Given the description of an element on the screen output the (x, y) to click on. 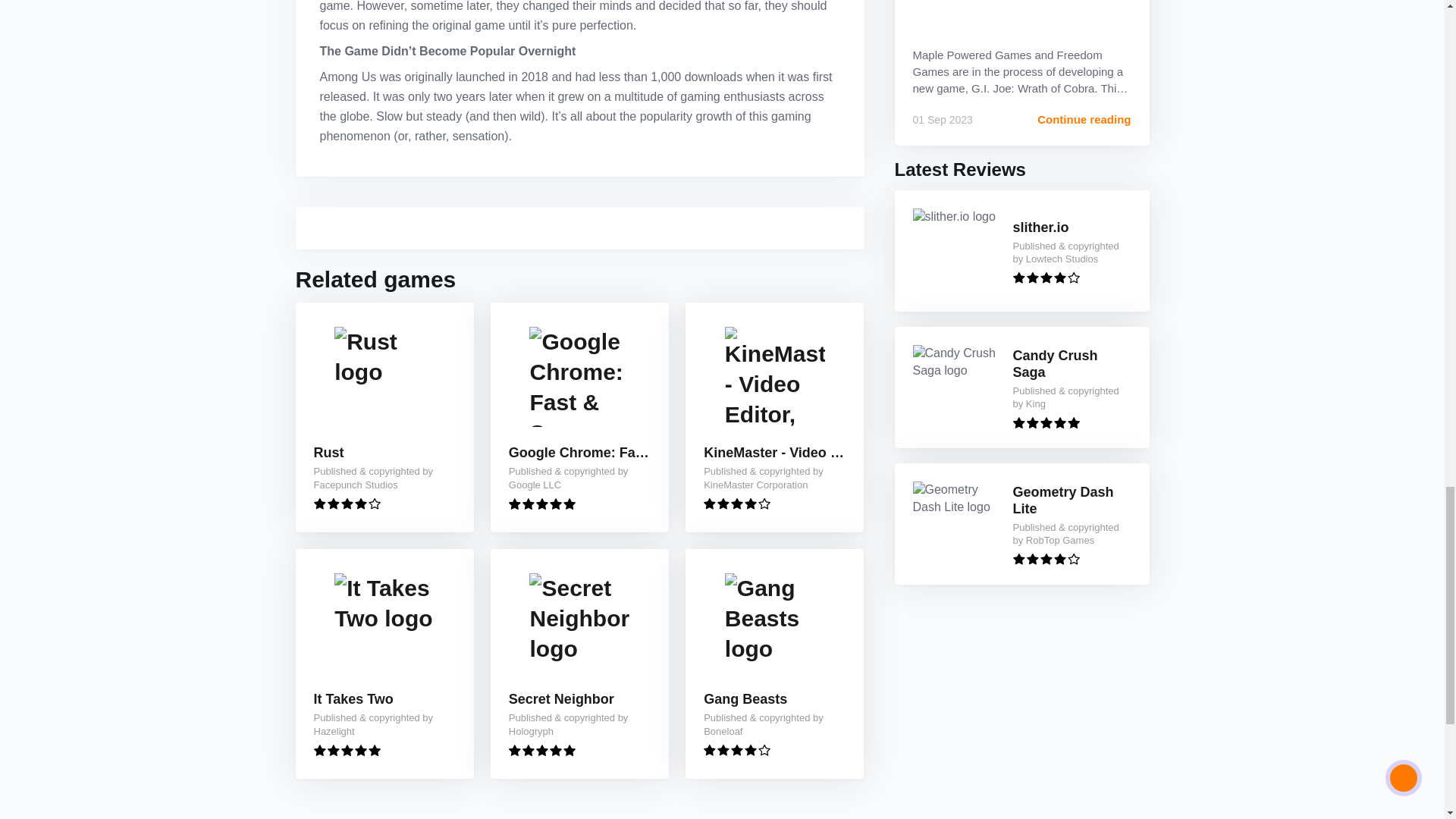
Secret Neighbor (561, 699)
Rust (328, 453)
KineMaster - Video Editor, Video Maker (774, 453)
Gang Beasts (745, 699)
User rating 4 (1046, 277)
User rating 5 (541, 749)
User rating 5 (347, 749)
User rating 4 (1046, 559)
User rating 5 (1046, 422)
User rating 4 (736, 749)
